Given the description of an element on the screen output the (x, y) to click on. 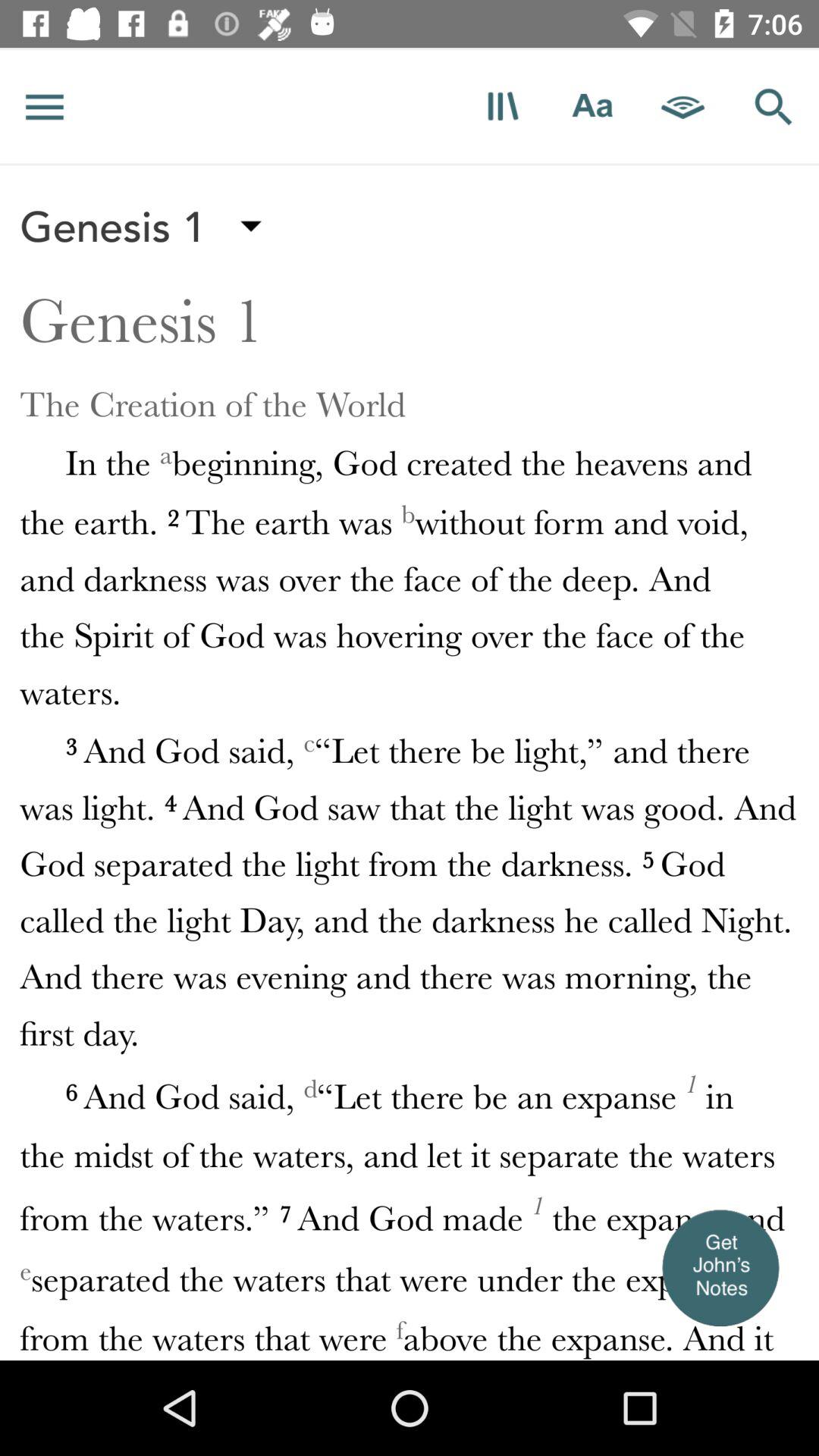
tap the item at the bottom right corner (720, 1267)
